Given the description of an element on the screen output the (x, y) to click on. 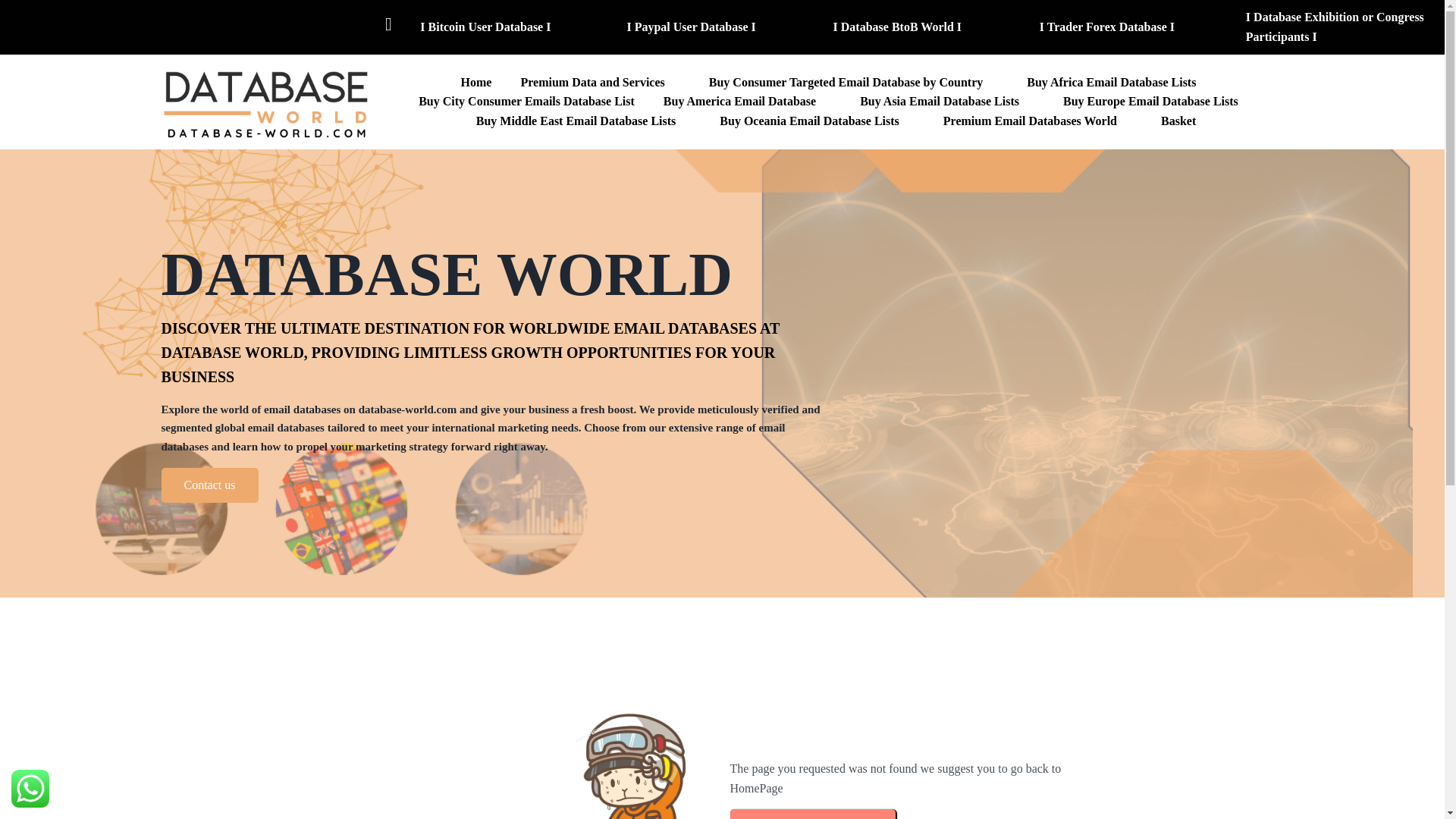
I Database BtoB World I (928, 26)
Buy Consumer Targeted Email Database by Country (853, 82)
I Trader Forex Database I (1134, 26)
Logo database-world (266, 101)
Premium Data and Services (599, 82)
Home (476, 82)
I Database Exhibition or Congress Participants I (1341, 26)
I Bitcoin User Database I (515, 26)
I Paypal User Database I (721, 26)
